Given the description of an element on the screen output the (x, y) to click on. 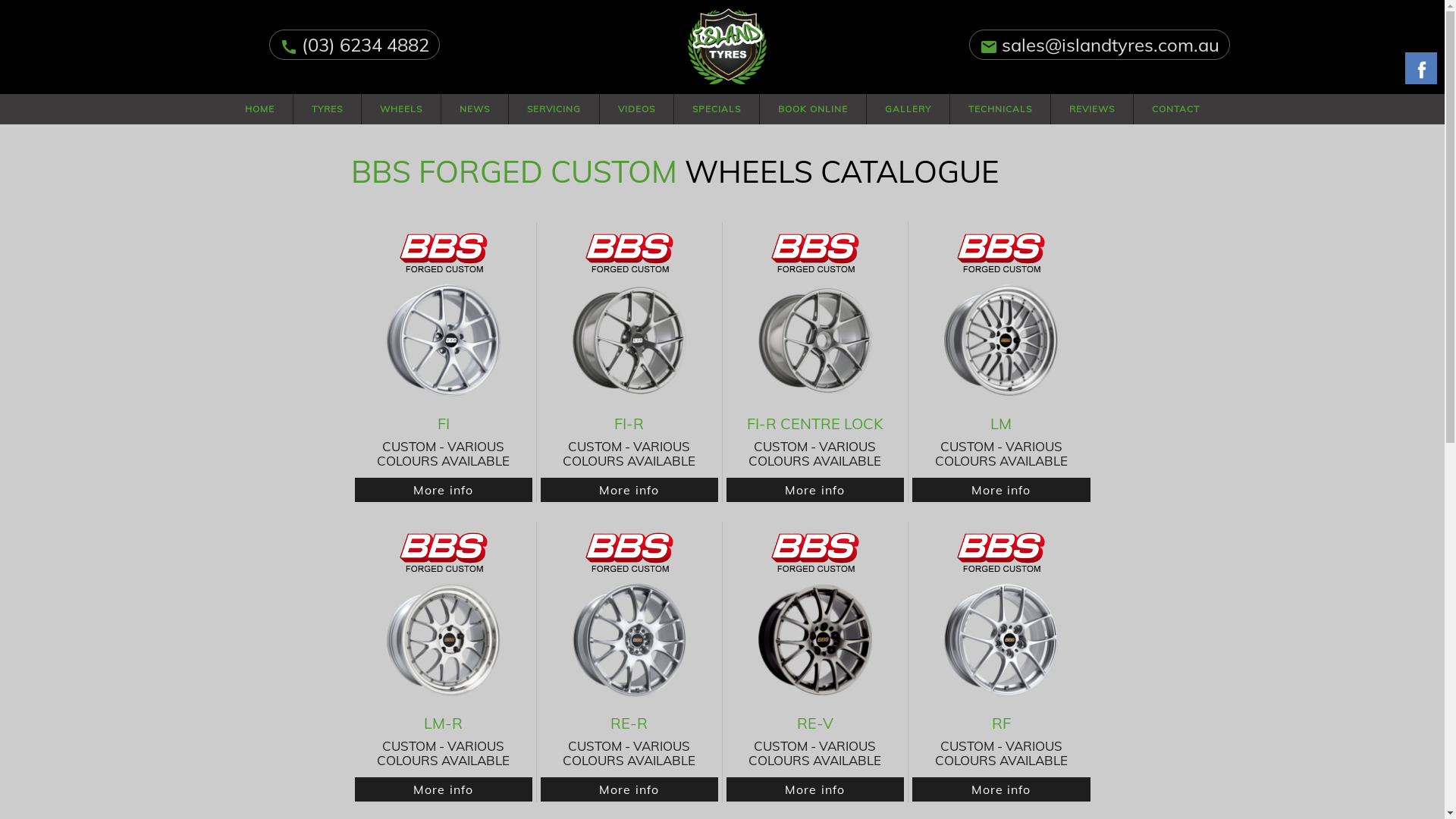
BBS Forged Custom Wheels Element type: hover (629, 552)
BOOK ONLINE Element type: text (812, 109)
SPECIALS Element type: text (716, 109)
More info Element type: text (814, 489)
BBS Forged Custom Wheels Element type: hover (629, 253)
BBS Forged Custom Wheels Element type: hover (814, 253)
BBS Forged Custom Wheels Element type: hover (814, 552)
WHEELS Element type: text (400, 109)
REVIEWS Element type: text (1091, 109)
More info Element type: text (443, 489)
(03) 6234 4882 Element type: text (365, 44)
More info Element type: text (1000, 489)
More info Element type: text (814, 789)
VIDEOS Element type: text (636, 109)
More info Element type: text (628, 789)
BBS Forged Custom Wheels Element type: hover (442, 253)
sales@islandtyres.com.au Element type: text (1110, 44)
BBS Forged Custom Wheels Element type: hover (1000, 253)
More info Element type: text (443, 789)
GALLERY Element type: text (907, 109)
SERVICING Element type: text (553, 109)
CONTACT Element type: text (1175, 109)
More info Element type: text (628, 489)
More info Element type: text (1000, 789)
BBS Forged Custom Wheels Element type: hover (1000, 552)
TECHNICALS Element type: text (999, 109)
BBS Forged Custom Wheels Element type: hover (442, 552)
NEWS Element type: text (474, 109)
TYRES Element type: text (327, 109)
HOME Element type: text (259, 109)
